Given the description of an element on the screen output the (x, y) to click on. 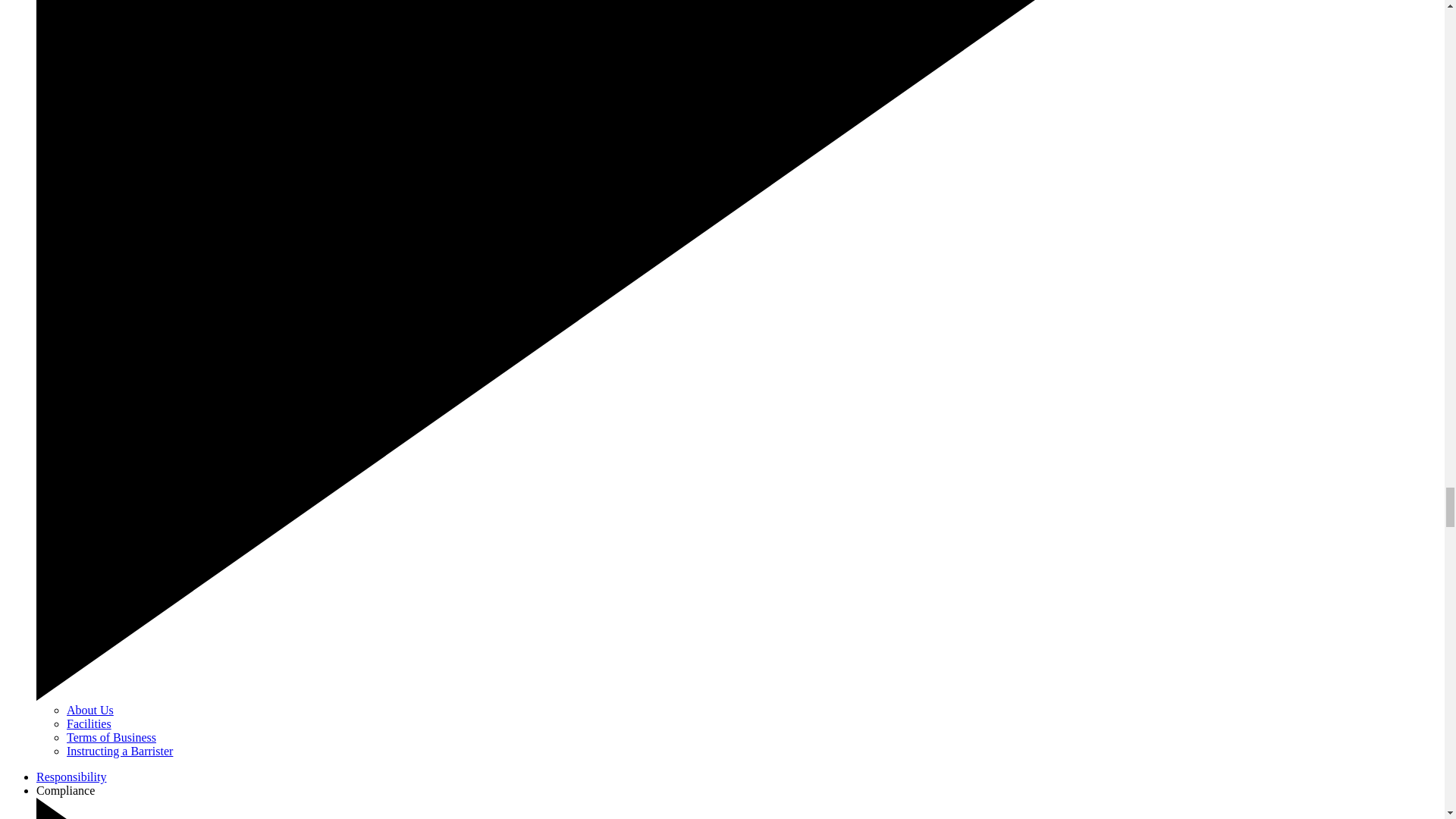
Terms of Business (110, 737)
Facilities (89, 723)
Responsibility (71, 776)
About Us (89, 709)
Instructing a Barrister (119, 750)
